Given the description of an element on the screen output the (x, y) to click on. 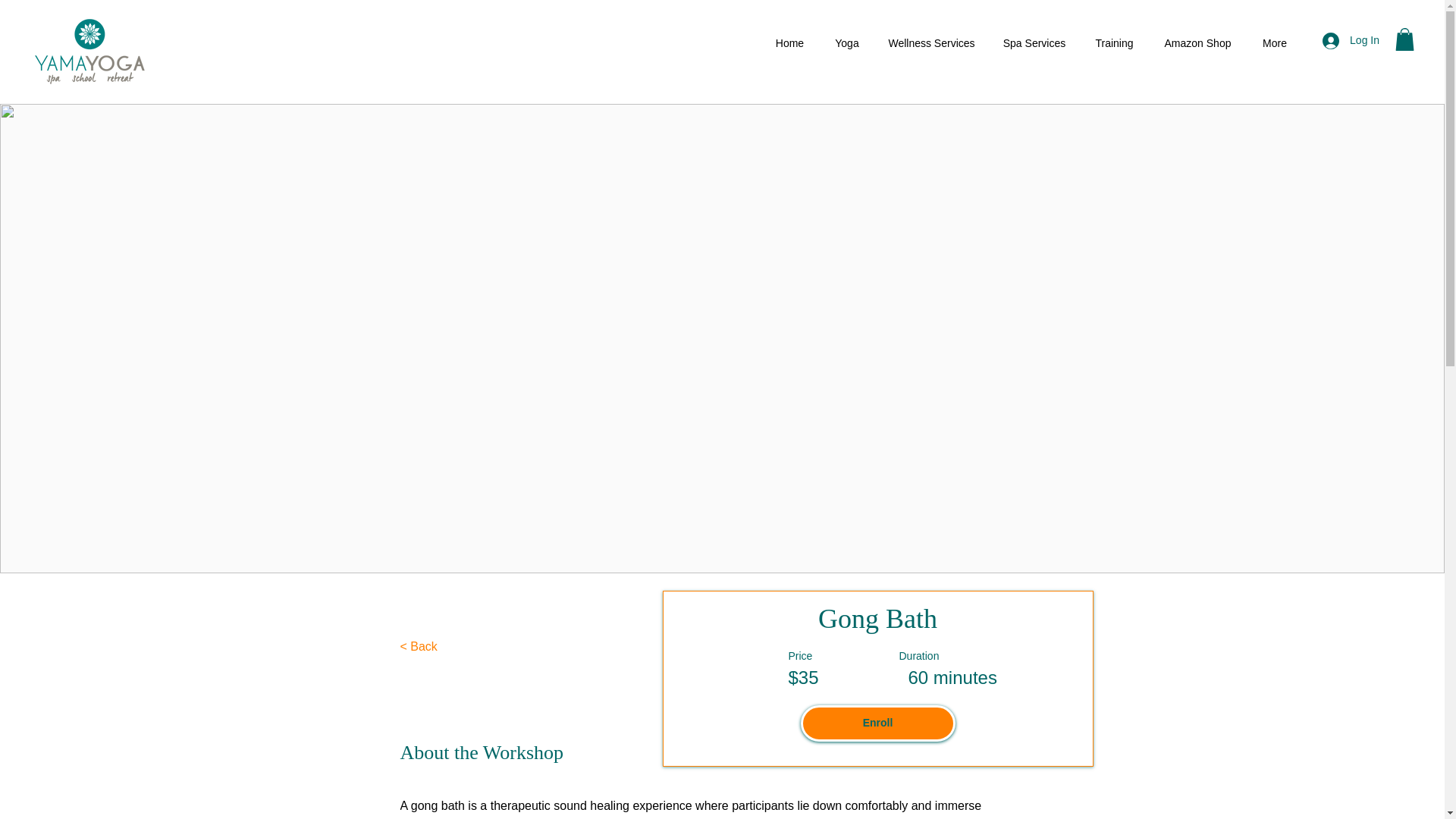
Spa Services (1034, 43)
Amazon Shop (1197, 43)
Training (1114, 43)
Home (789, 43)
Enroll (877, 723)
Wellness Services (931, 43)
Log In (1350, 40)
Yoga (847, 43)
